Given the description of an element on the screen output the (x, y) to click on. 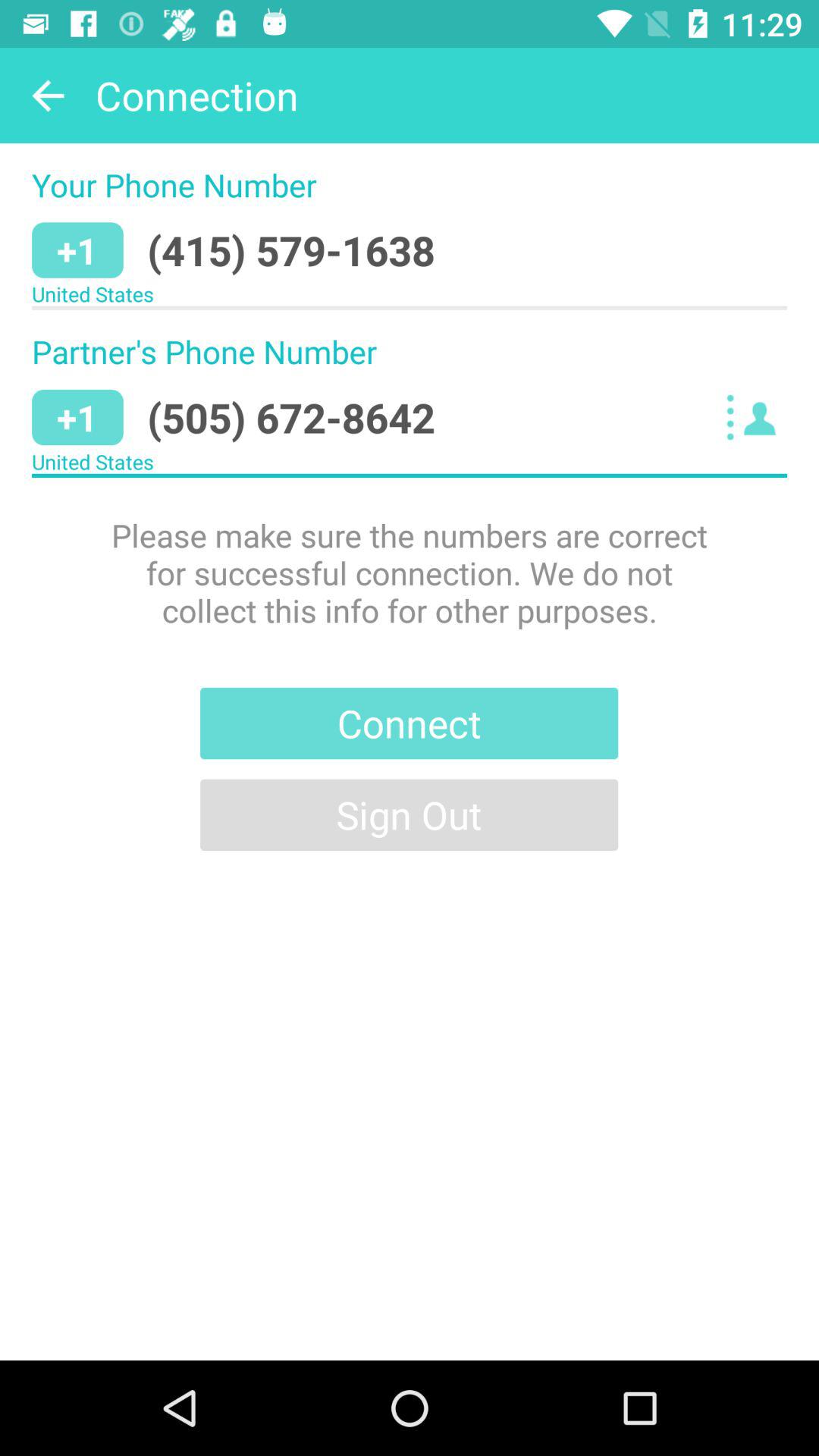
tap sign out (409, 814)
